Given the description of an element on the screen output the (x, y) to click on. 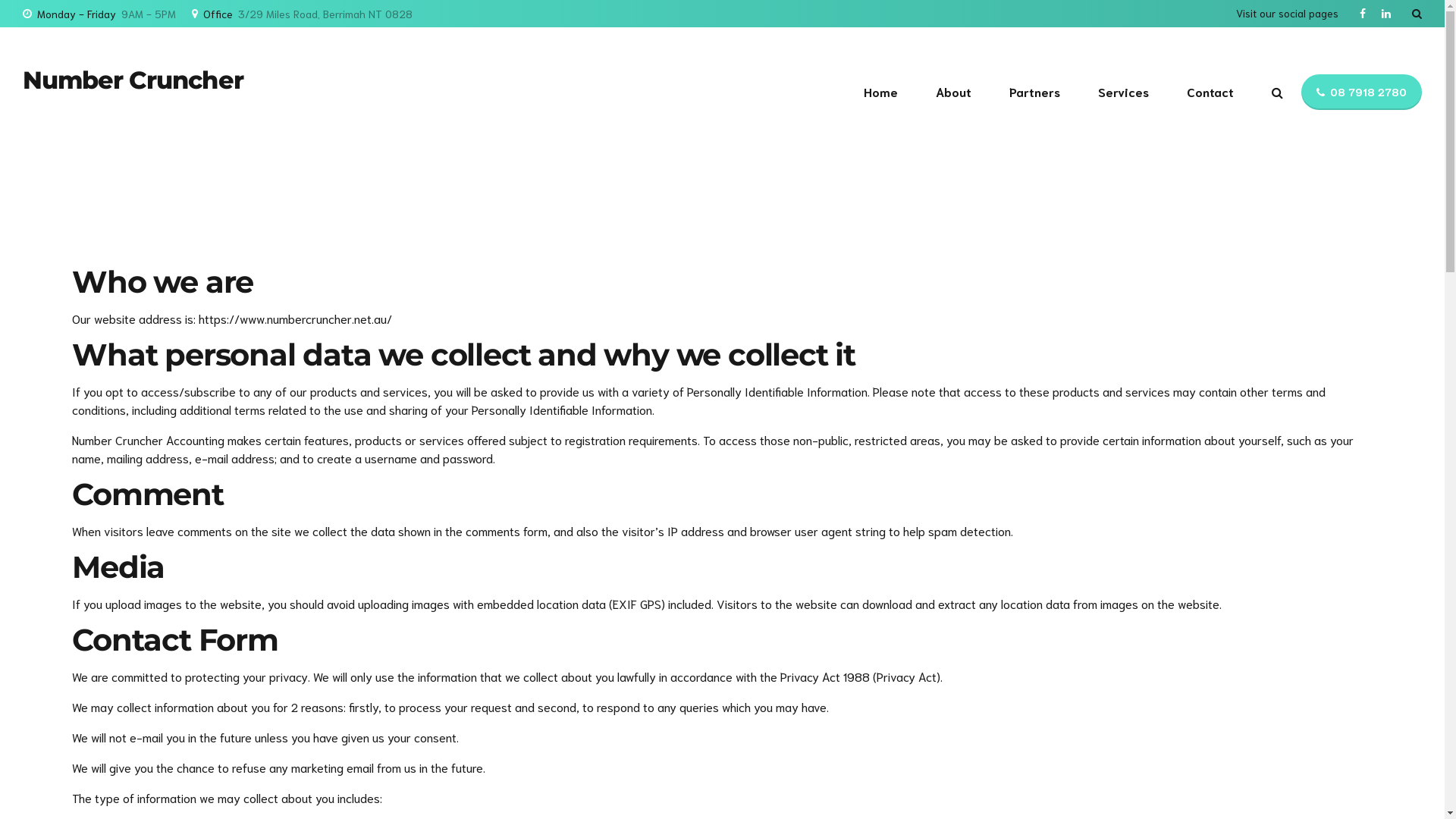
Services Element type: text (1123, 91)
Number Cruncher Element type: text (132, 79)
08 7918 2780 Element type: text (1361, 91)
Partners Element type: text (1034, 91)
Contact Element type: text (1209, 91)
Home Element type: text (880, 91)
About Element type: text (953, 91)
